Given the description of an element on the screen output the (x, y) to click on. 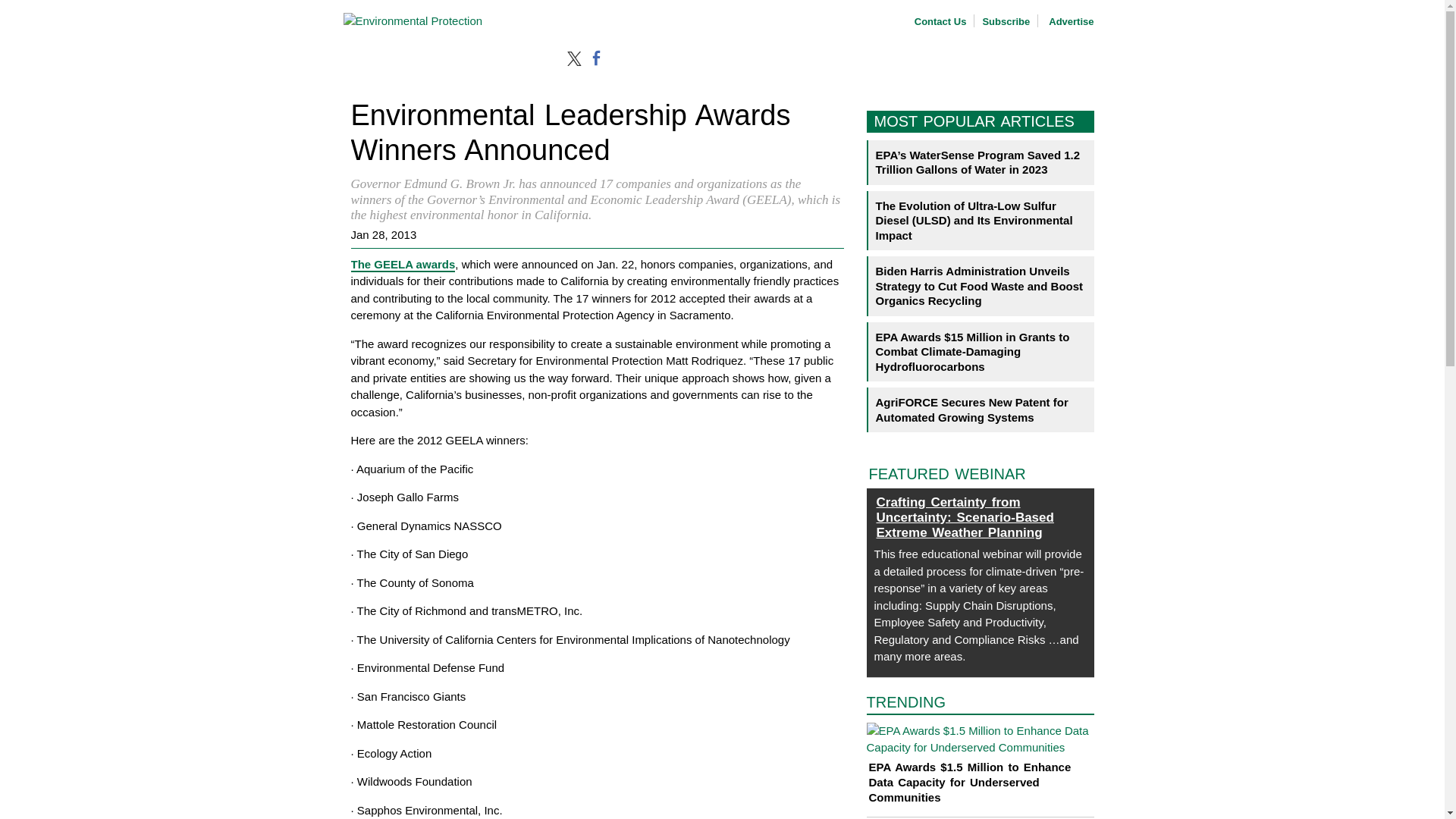
Contact Us (940, 21)
Advertise (1069, 21)
Subscribe (1005, 21)
The GEELA awards (402, 264)
